Given the description of an element on the screen output the (x, y) to click on. 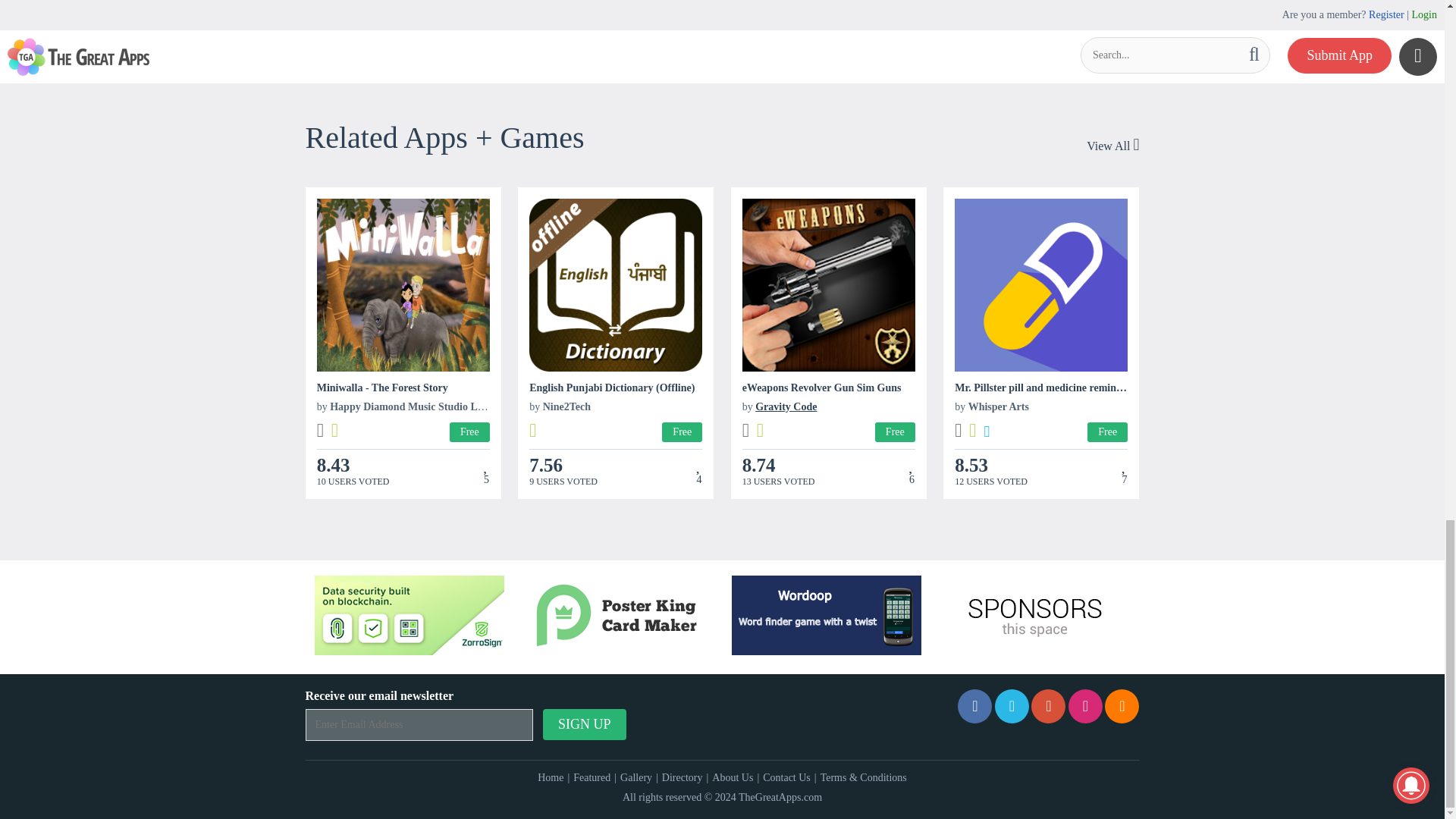
Wordoop Word Game (826, 615)
Twitter (1011, 706)
Sponsors Advertise with us (1034, 615)
Poster King - Card Maker (617, 615)
Instagram (1085, 706)
Rss (1121, 706)
ZorroSign (408, 615)
Sign up (584, 724)
Facebook (974, 706)
Pinterest (1047, 706)
